Given the description of an element on the screen output the (x, y) to click on. 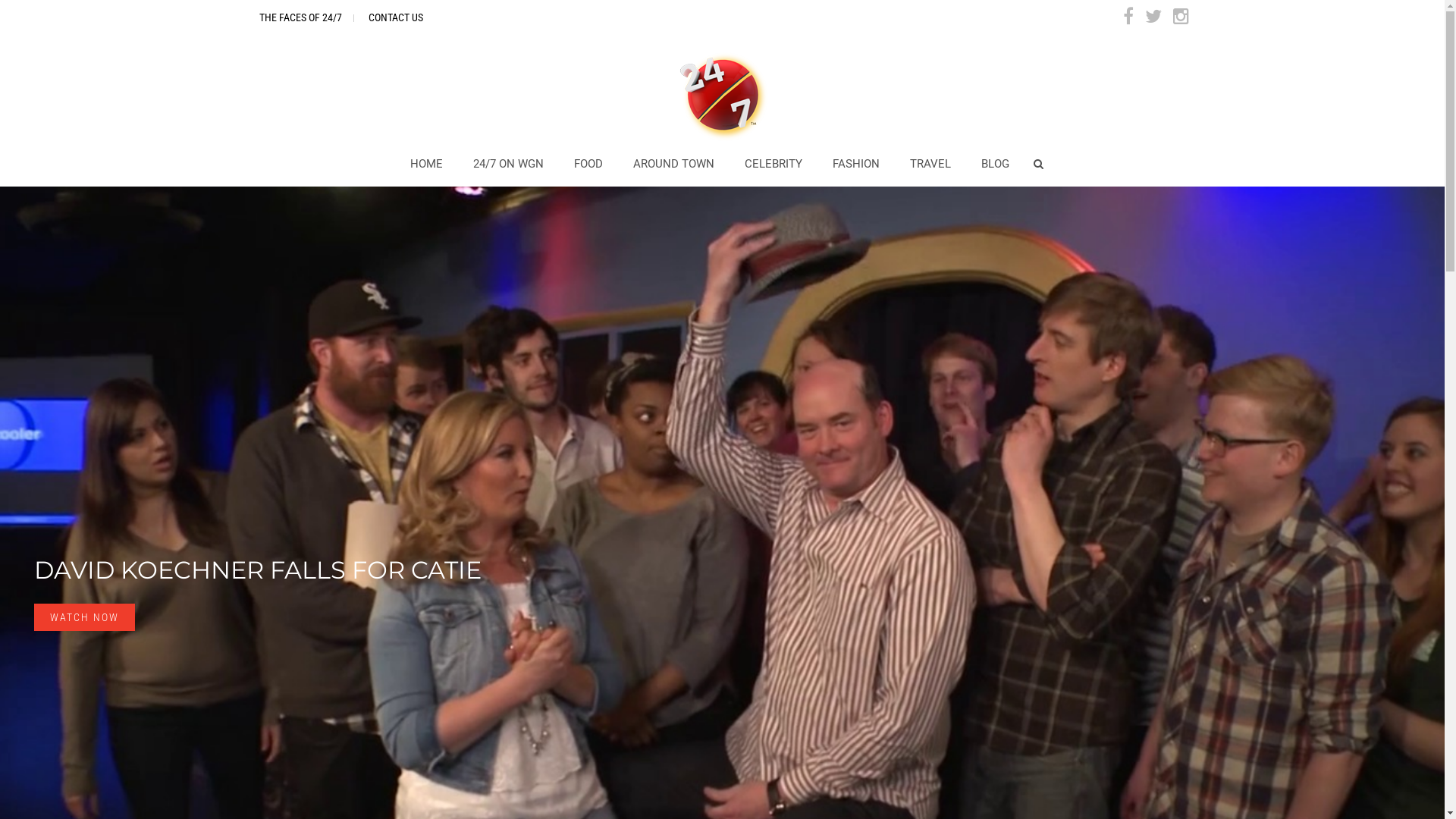
CONTACT US Element type: text (395, 17)
HOME Element type: text (425, 163)
CELEBRITY Element type: text (773, 163)
FASHION Element type: text (855, 163)
FOOD Element type: text (587, 163)
THE FACES OF 24/7 Element type: text (300, 17)
TRAVEL Element type: text (930, 163)
AROUND TOWN Element type: text (672, 163)
BLOG Element type: text (995, 163)
WATCH NOW Element type: text (84, 616)
24/7 ON WGN Element type: text (508, 163)
